Given the description of an element on the screen output the (x, y) to click on. 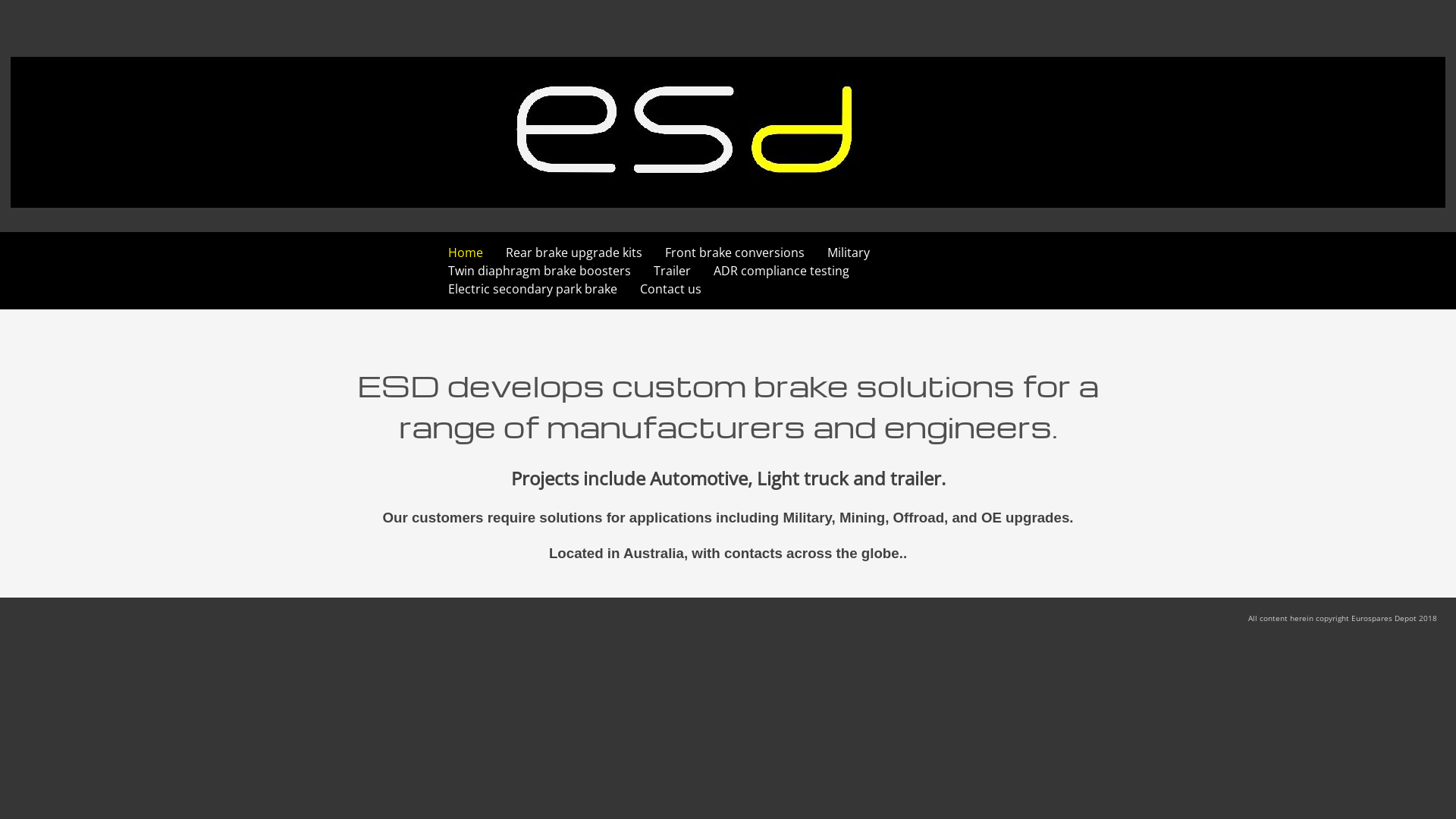
Trailer Element type: text (671, 270)
Contact us Element type: text (670, 288)
Rear brake upgrade kits Element type: text (573, 252)
Military Element type: text (848, 252)
Electric secondary park brake Element type: text (532, 288)
Eurospares Element type: text (32, 233)
Home Element type: text (465, 252)
Front brake conversions Element type: text (734, 252)
ADR compliance testing Element type: text (781, 270)
Twin diaphragm brake boosters Element type: text (539, 270)
